Given the description of an element on the screen output the (x, y) to click on. 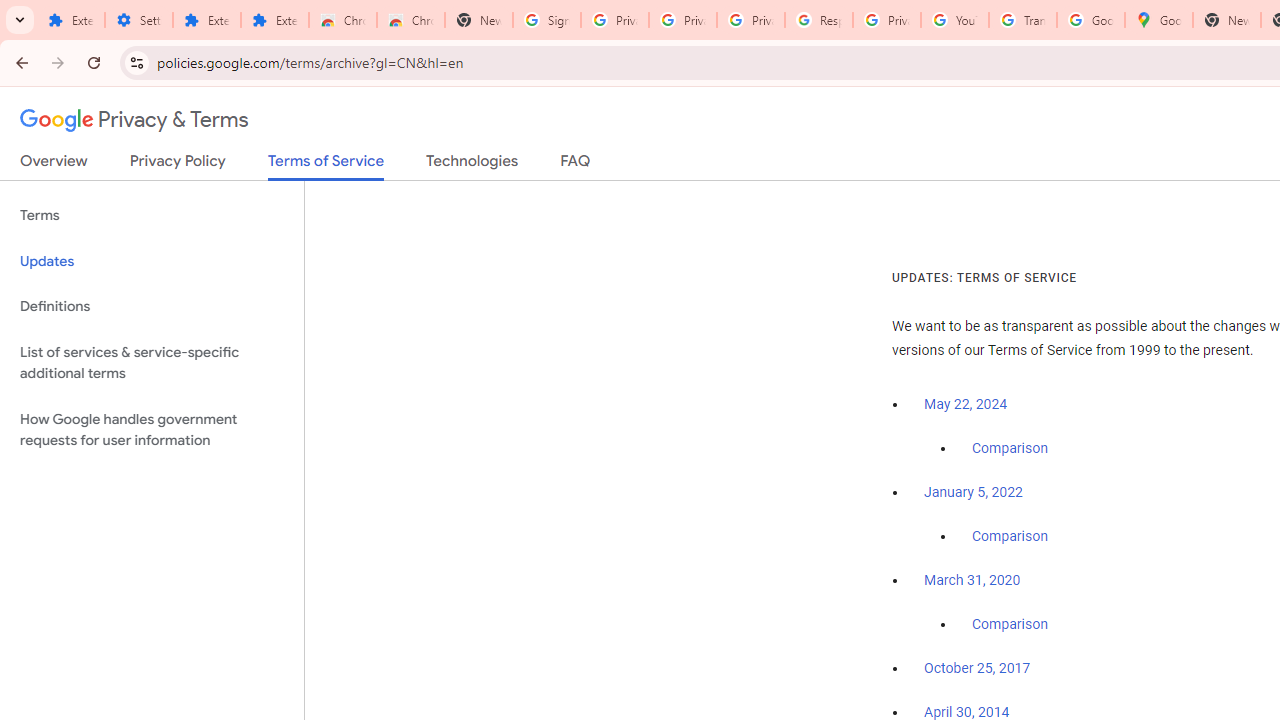
Settings (138, 20)
Comparison (1009, 625)
October 25, 2017 (977, 669)
Definitions (152, 306)
Extensions (274, 20)
